Given the description of an element on the screen output the (x, y) to click on. 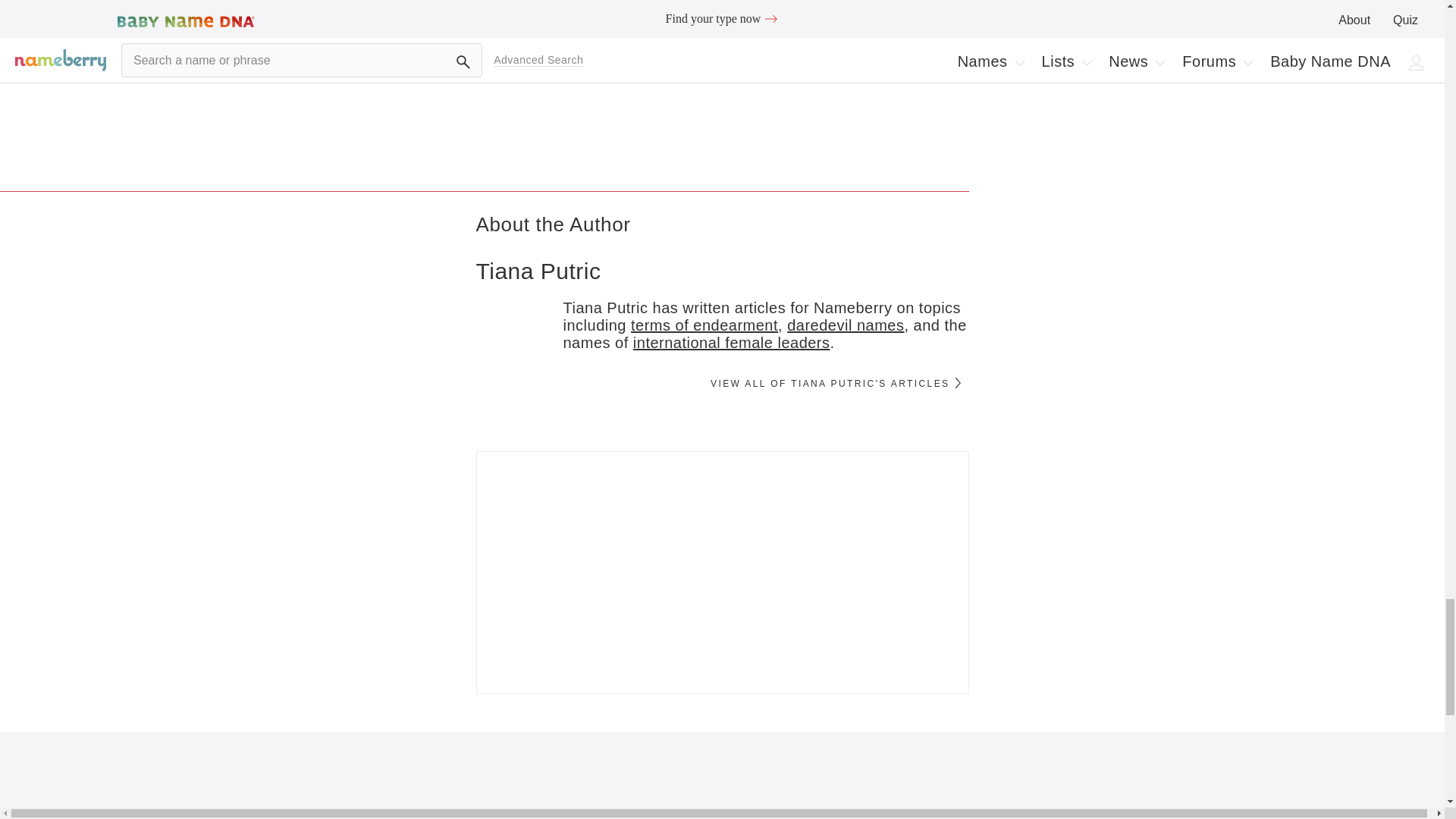
Sign up for the Nameberry Newsletter (722, 572)
